Given the description of an element on the screen output the (x, y) to click on. 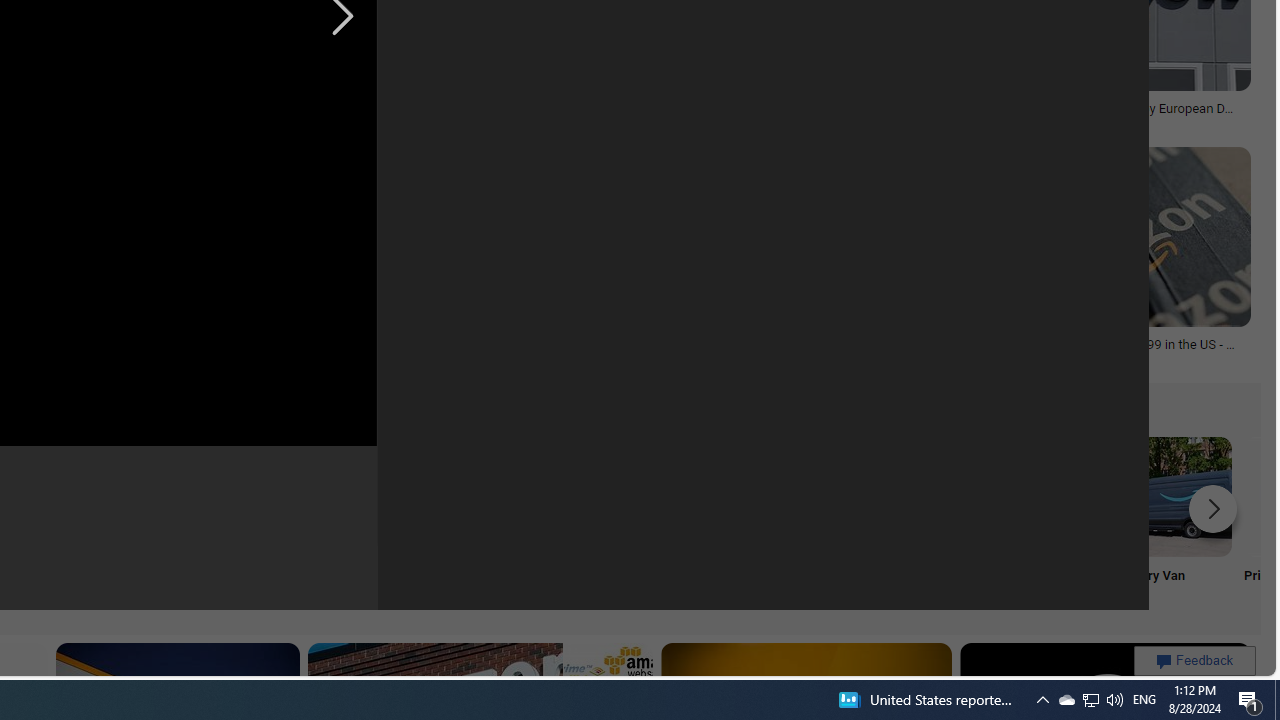
Amazon Visa Card Login Visa Card Login (643, 521)
Prime Shopping Online (380, 521)
amazon.com.mx (776, 359)
Amazon Online Shopping Homepage Online Shopping Homepage (248, 521)
Amazon App Store Download (1039, 496)
Amazon Prime Label (511, 496)
thewrap.com (987, 121)
Amazon Sale Items Sale Items (775, 521)
theverge.com (1098, 359)
The Verge (507, 121)
thewrap.com (1095, 123)
olhardigital.com.br (100, 358)
